Given the description of an element on the screen output the (x, y) to click on. 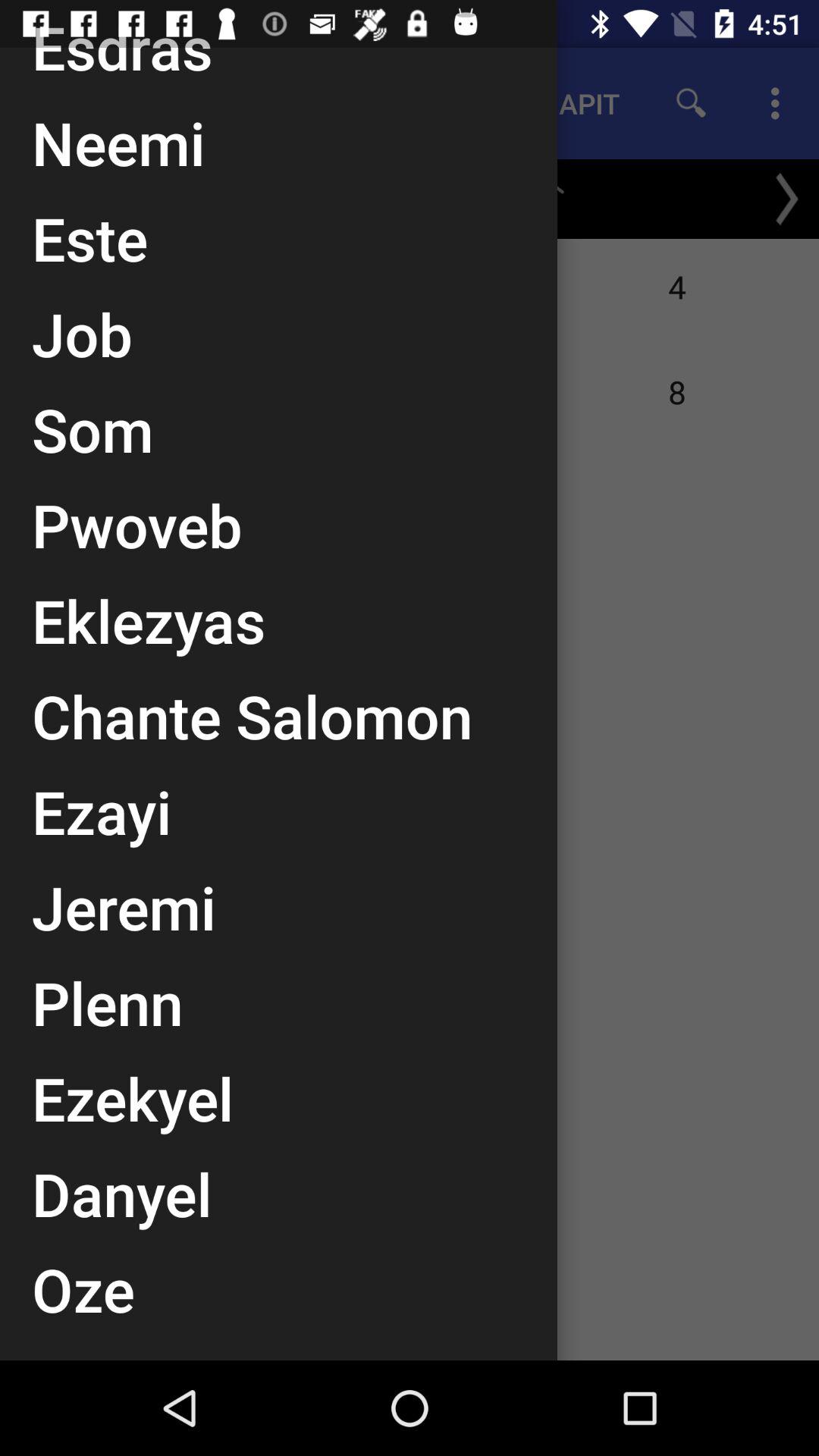
click on the option symbol which is  top right hand side (779, 103)
